Given the description of an element on the screen output the (x, y) to click on. 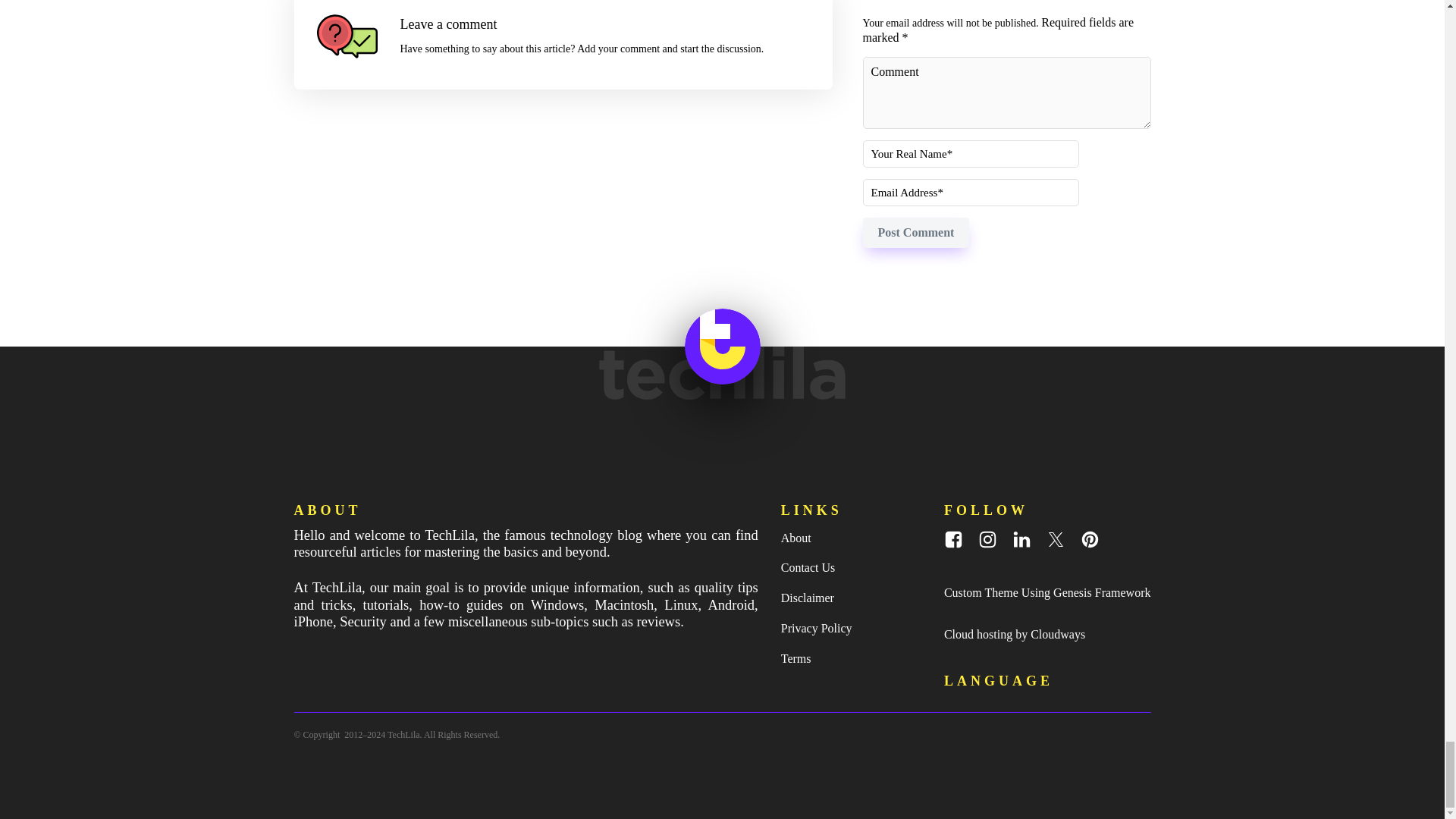
TechLila (403, 734)
No Comments Logo (347, 35)
Post Comment (916, 232)
